Given the description of an element on the screen output the (x, y) to click on. 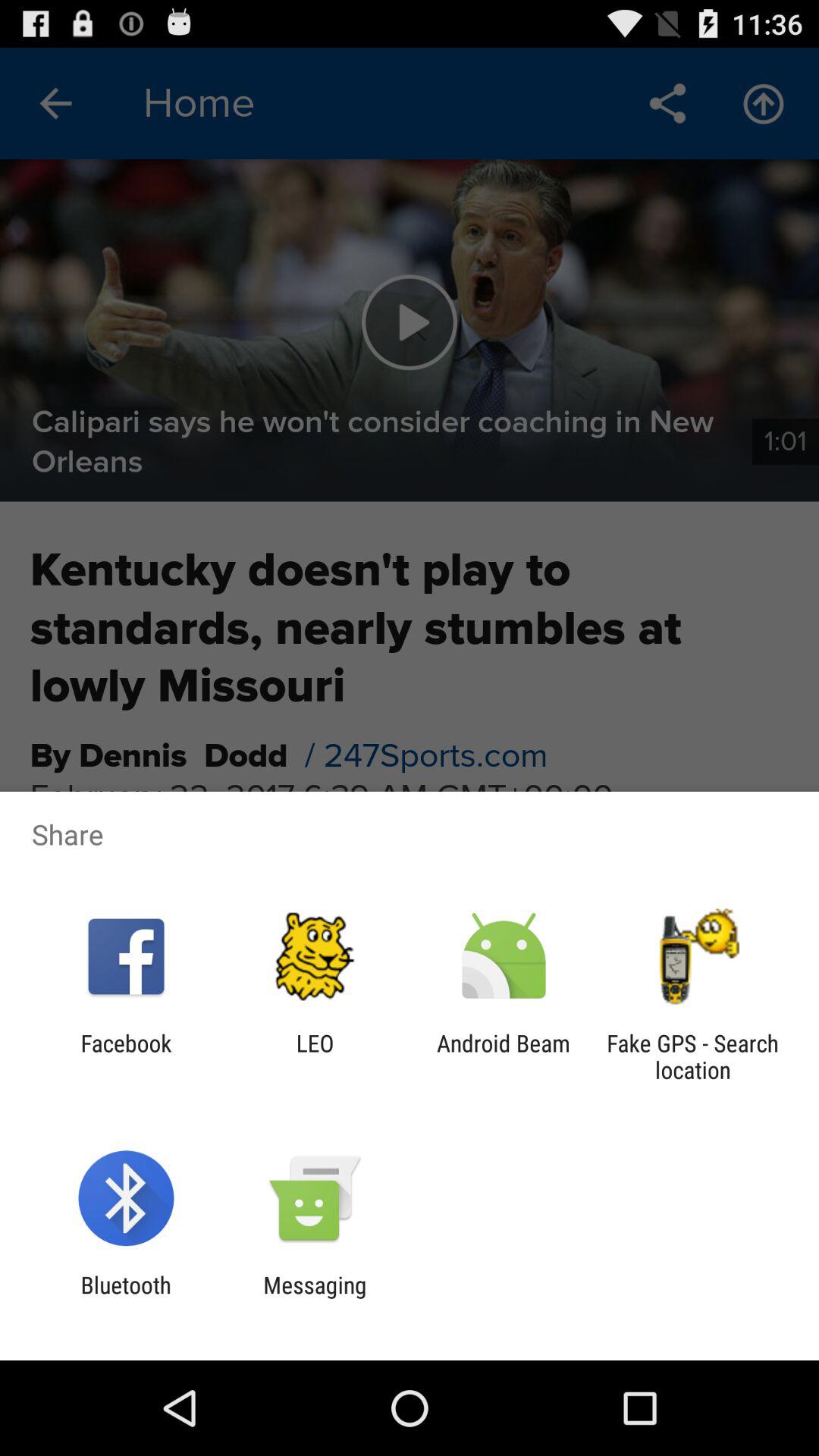
jump until leo item (314, 1056)
